Given the description of an element on the screen output the (x, y) to click on. 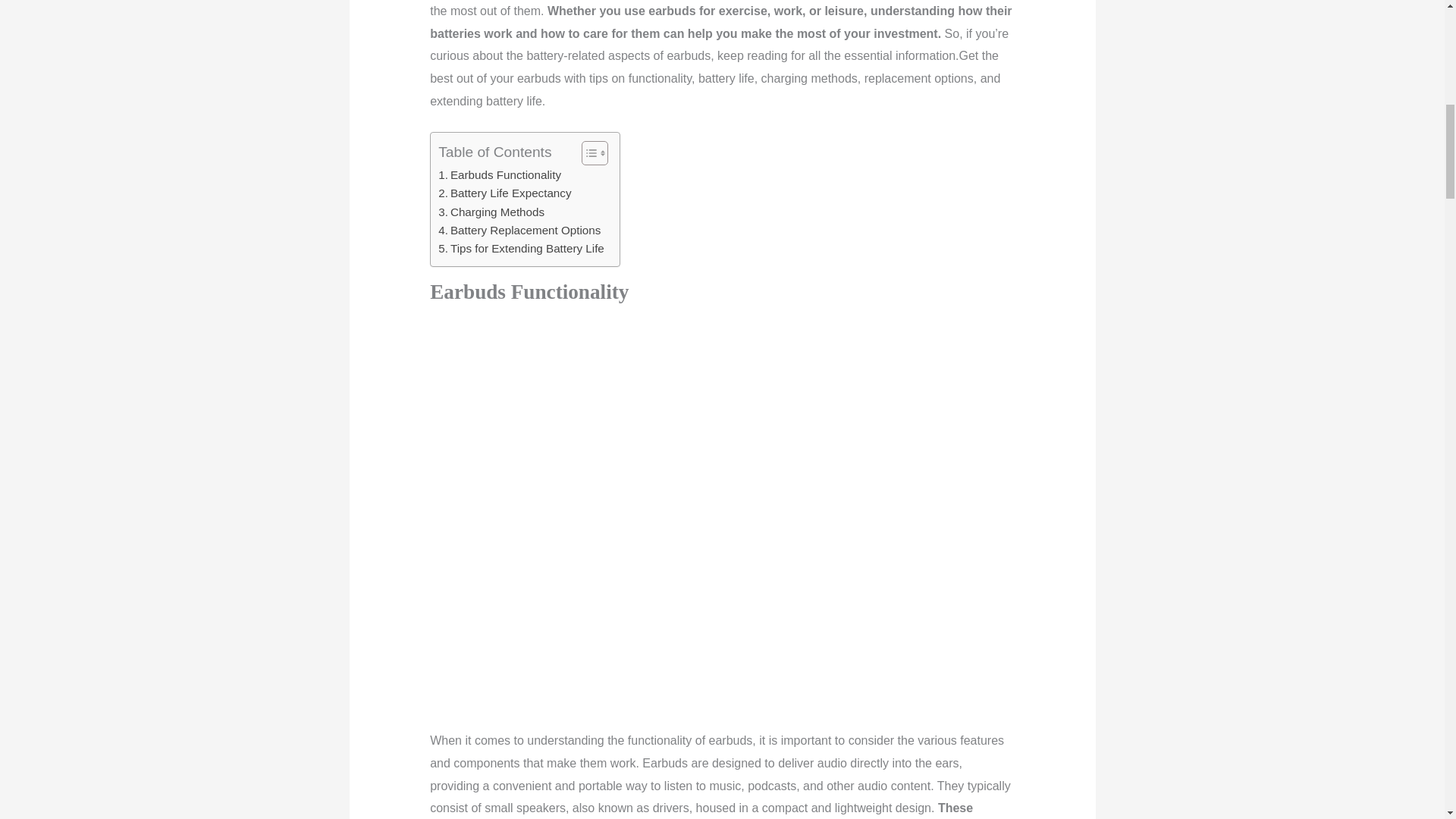
Tips for Extending Battery Life (521, 248)
Earbuds Functionality (499, 175)
Battery Life Expectancy (504, 193)
Earbuds Functionality (499, 175)
Battery Replacement Options (518, 230)
Battery Life Expectancy (504, 193)
Charging Methods (491, 212)
Tips for Extending Battery Life (521, 248)
Battery Replacement Options (518, 230)
Charging Methods (491, 212)
